Given the description of an element on the screen output the (x, y) to click on. 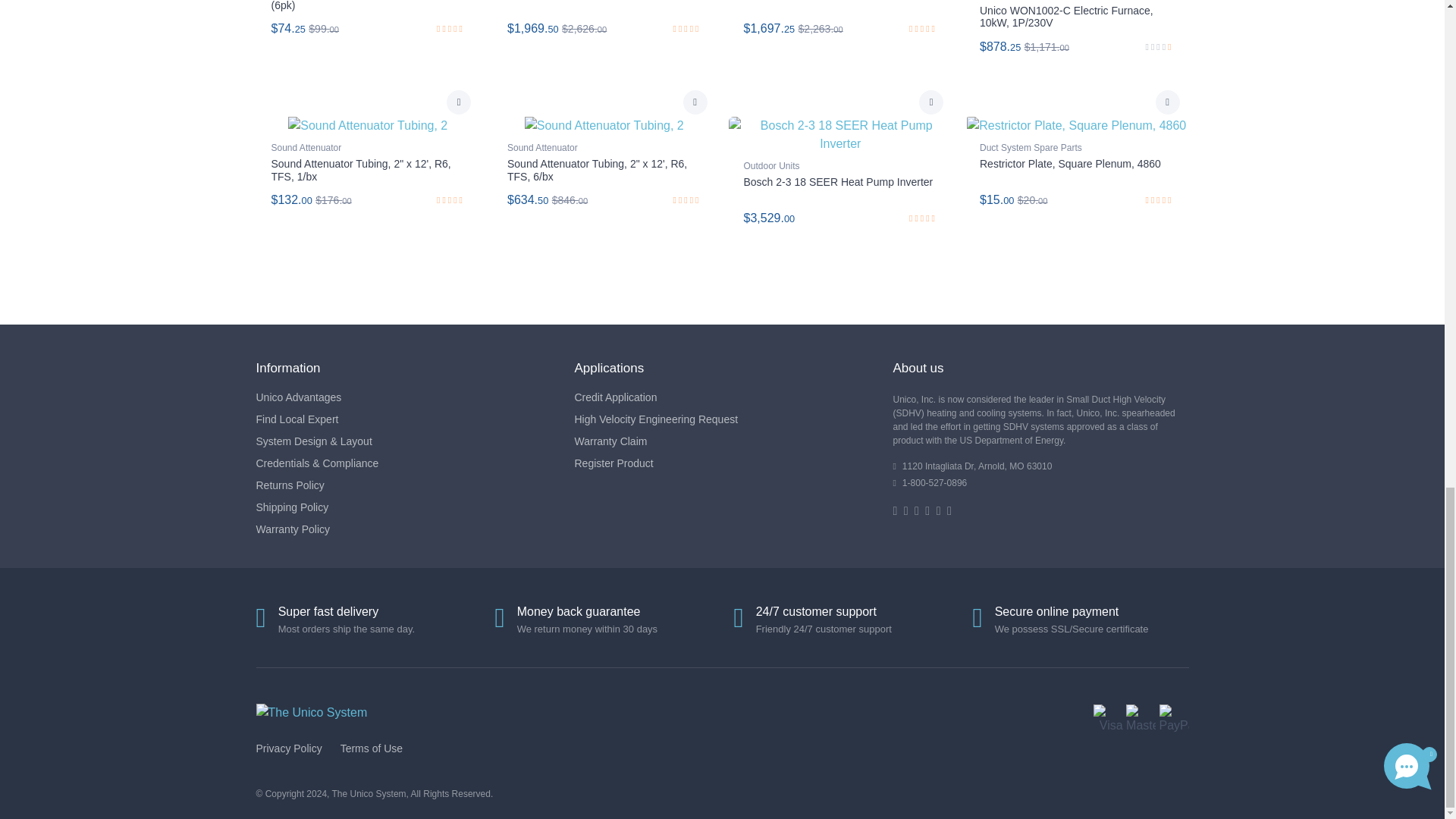
Add to wishlist (694, 102)
Add to wishlist (1167, 102)
Add to wishlist (458, 102)
Add to wishlist (930, 102)
